Given the description of an element on the screen output the (x, y) to click on. 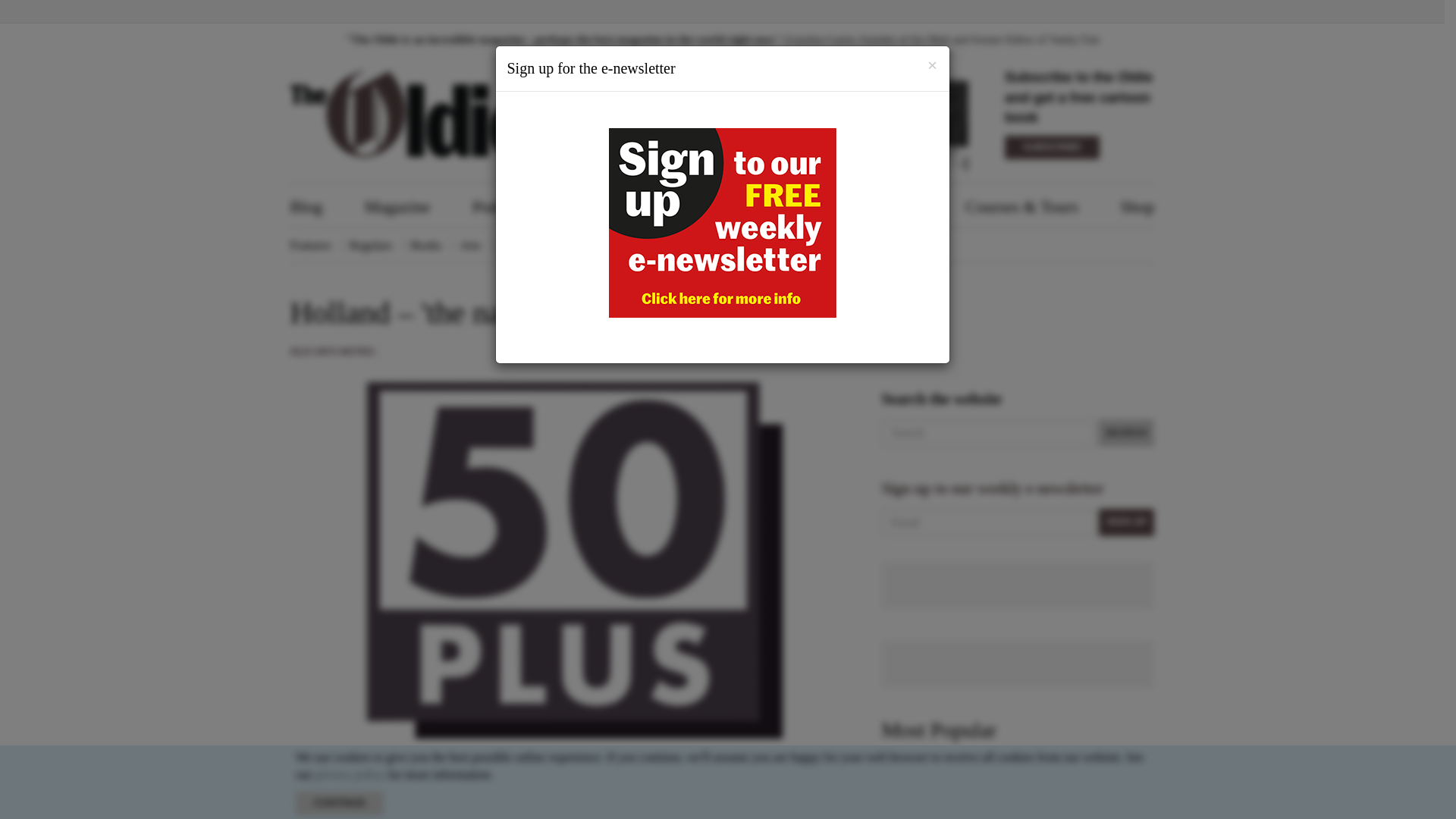
Blog (305, 206)
SEARCH (1125, 432)
Travel (571, 245)
Podcasts (501, 206)
Books (426, 245)
Literary Lunches (866, 206)
About Us (734, 206)
SIGN UP (1126, 522)
Features (309, 245)
Arts (470, 245)
Shop (1136, 206)
Greatest Hits (617, 206)
Features (309, 245)
SUBSCRIBE (1051, 146)
Regulars (371, 245)
